Given the description of an element on the screen output the (x, y) to click on. 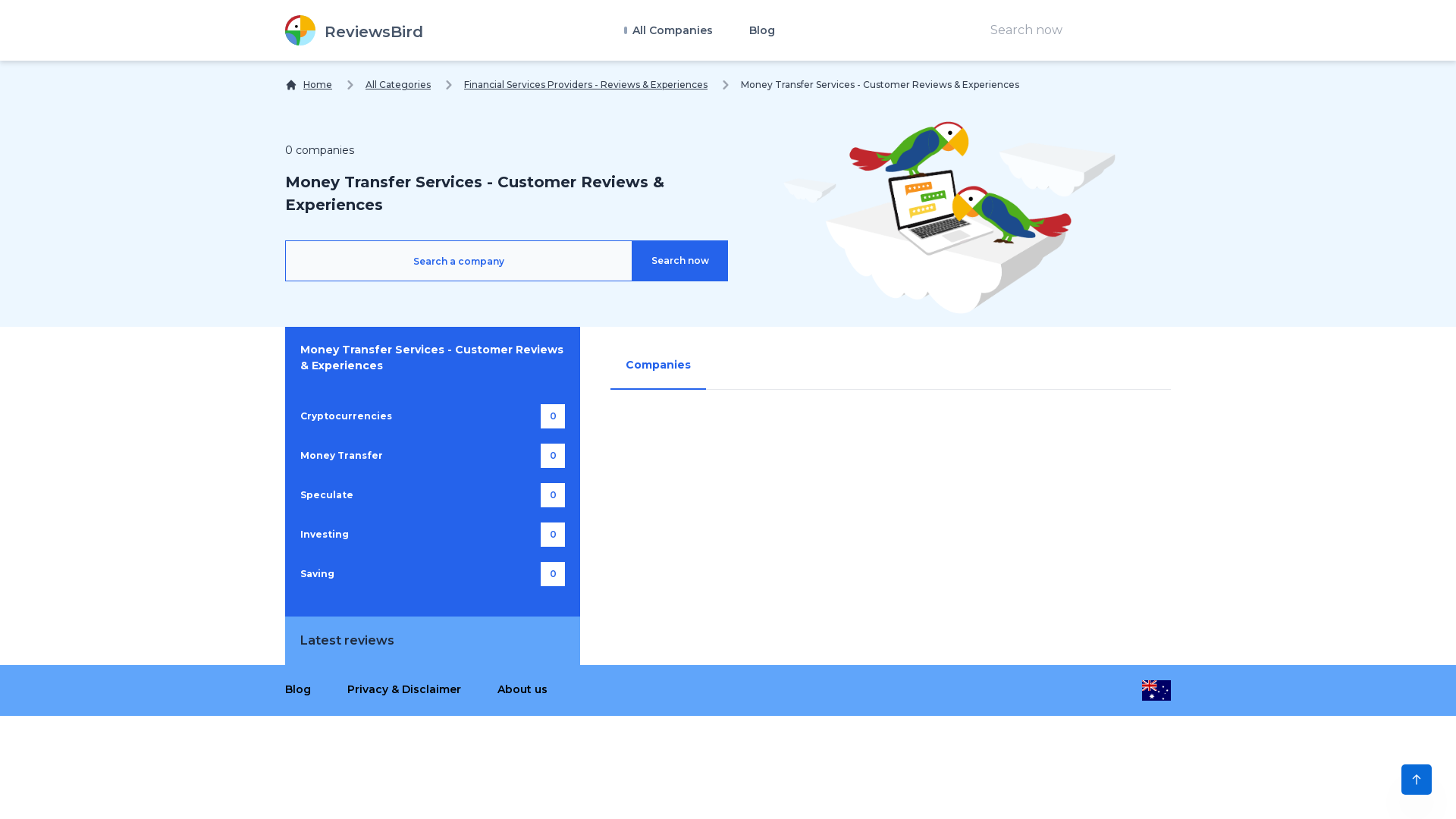
Blog Element type: text (297, 689)
Speculate
0 Element type: text (432, 495)
Blog Element type: text (762, 30)
Saving
0 Element type: text (432, 573)
Financial Services Providers - Reviews & Experiences Element type: text (585, 84)
Money Transfer
0 Element type: text (432, 455)
All Categories Element type: text (397, 84)
Companies Element type: text (658, 365)
All Companies Element type: text (667, 30)
Privacy & Disclaimer Element type: text (404, 689)
Investing
0 Element type: text (432, 534)
ReviewsBird Element type: text (354, 30)
Cryptocurrencies
0 Element type: text (432, 416)
Search now Element type: text (680, 260)
About us Element type: text (522, 689)
Home Element type: text (308, 84)
